Given the description of an element on the screen output the (x, y) to click on. 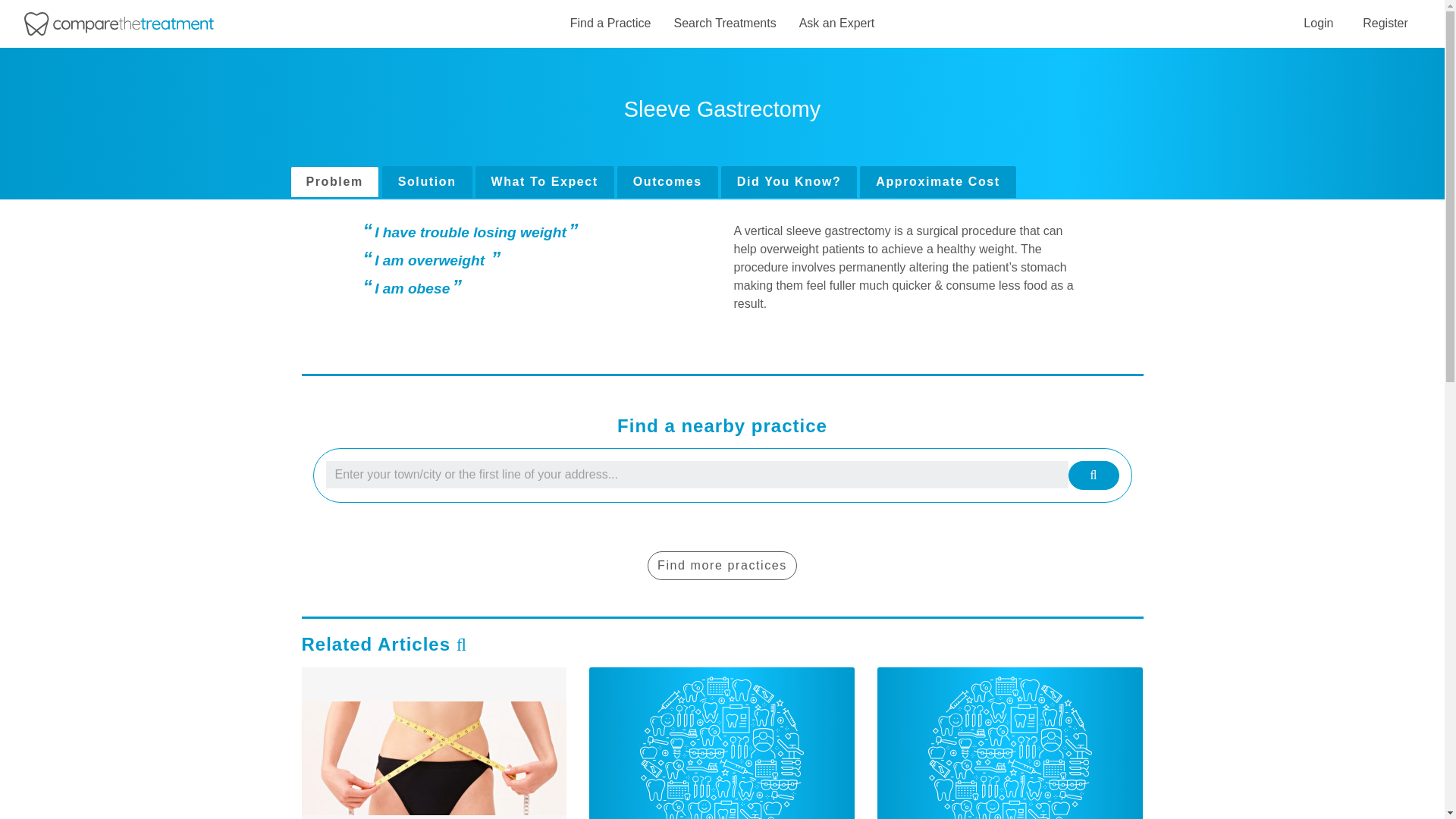
Outcomes (667, 182)
Find more practices (721, 565)
Find a Practice (610, 23)
Problem (333, 182)
Register (1386, 23)
Login (1318, 23)
Did You Know? (788, 182)
Search Treatments (724, 23)
Approximate Cost (937, 182)
Solution (426, 182)
